Given the description of an element on the screen output the (x, y) to click on. 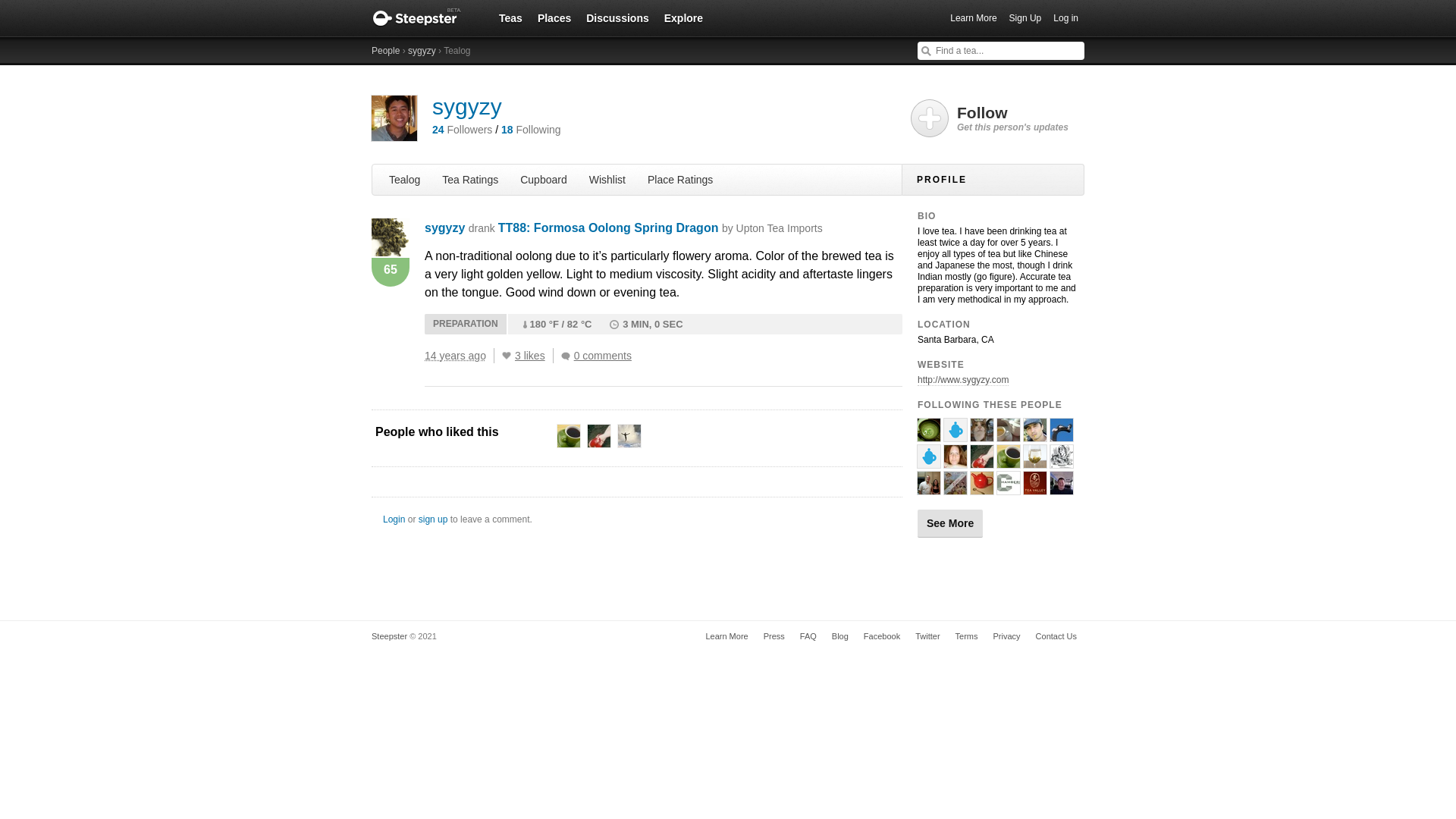
View Angrboda's Tealog (1061, 434)
Tealog (404, 179)
TT88: Formosa Oolong Spring Dragon by Upton Tea Imports (659, 227)
Cupboard (543, 179)
Log in (1065, 18)
sygyzy's Website (963, 379)
Explore (683, 17)
Teas (510, 17)
People (384, 50)
View CrippleCreek's Tealog (1034, 434)
sygyzy (444, 227)
0 comments (599, 355)
View Charles Thomas Draper's Tealog (628, 436)
View zeitfliesst's Tealog (928, 434)
View Jennifer Marcus Newton's Tealog (954, 434)
